Given the description of an element on the screen output the (x, y) to click on. 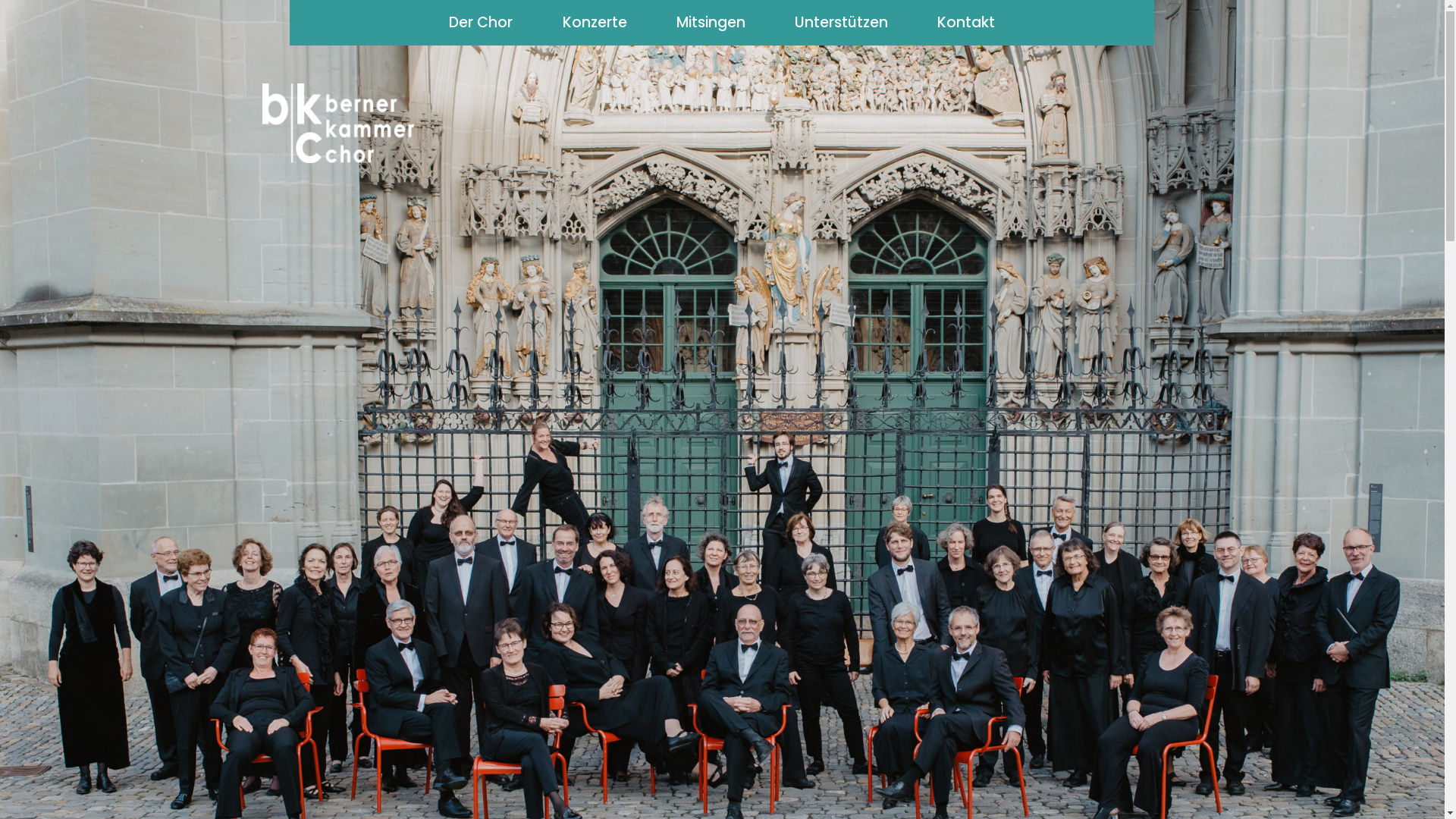
Startseite Element type: hover (338, 123)
Kontakt Element type: text (965, 22)
Konzerte Element type: text (594, 22)
Mitsingen Element type: text (710, 22)
Der Chor Element type: text (480, 22)
